Given the description of an element on the screen output the (x, y) to click on. 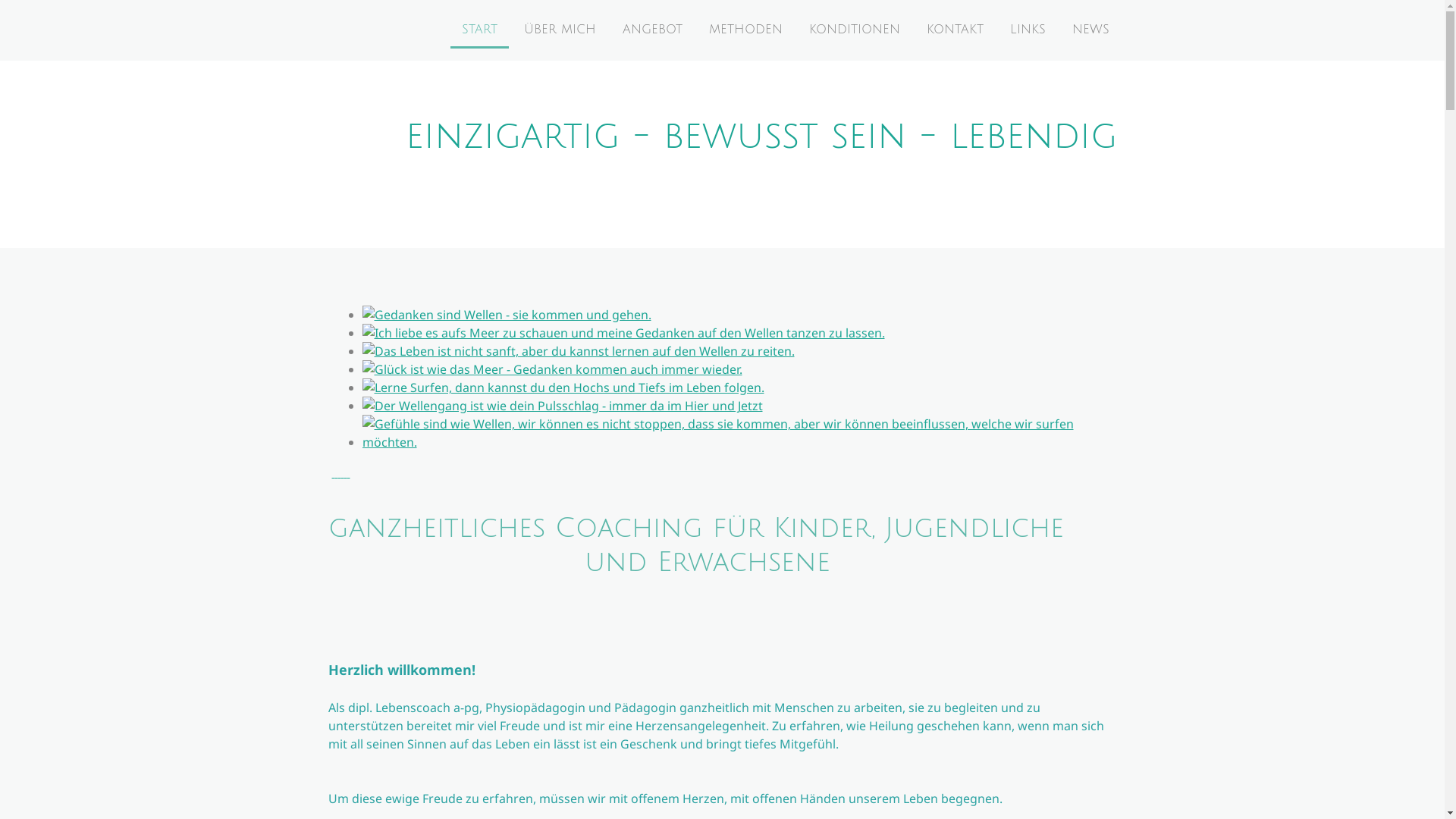
LINKS Element type: text (1026, 29)
KONDITIONEN Element type: text (854, 29)
einzigartig - bewusst sein - lebendig Element type: text (760, 142)
ANGEBOT Element type: text (652, 29)
START Element type: text (479, 29)
METHODEN Element type: text (745, 29)
KONTAKT Element type: text (954, 29)
NEWS Element type: text (1090, 29)
